Given the description of an element on the screen output the (x, y) to click on. 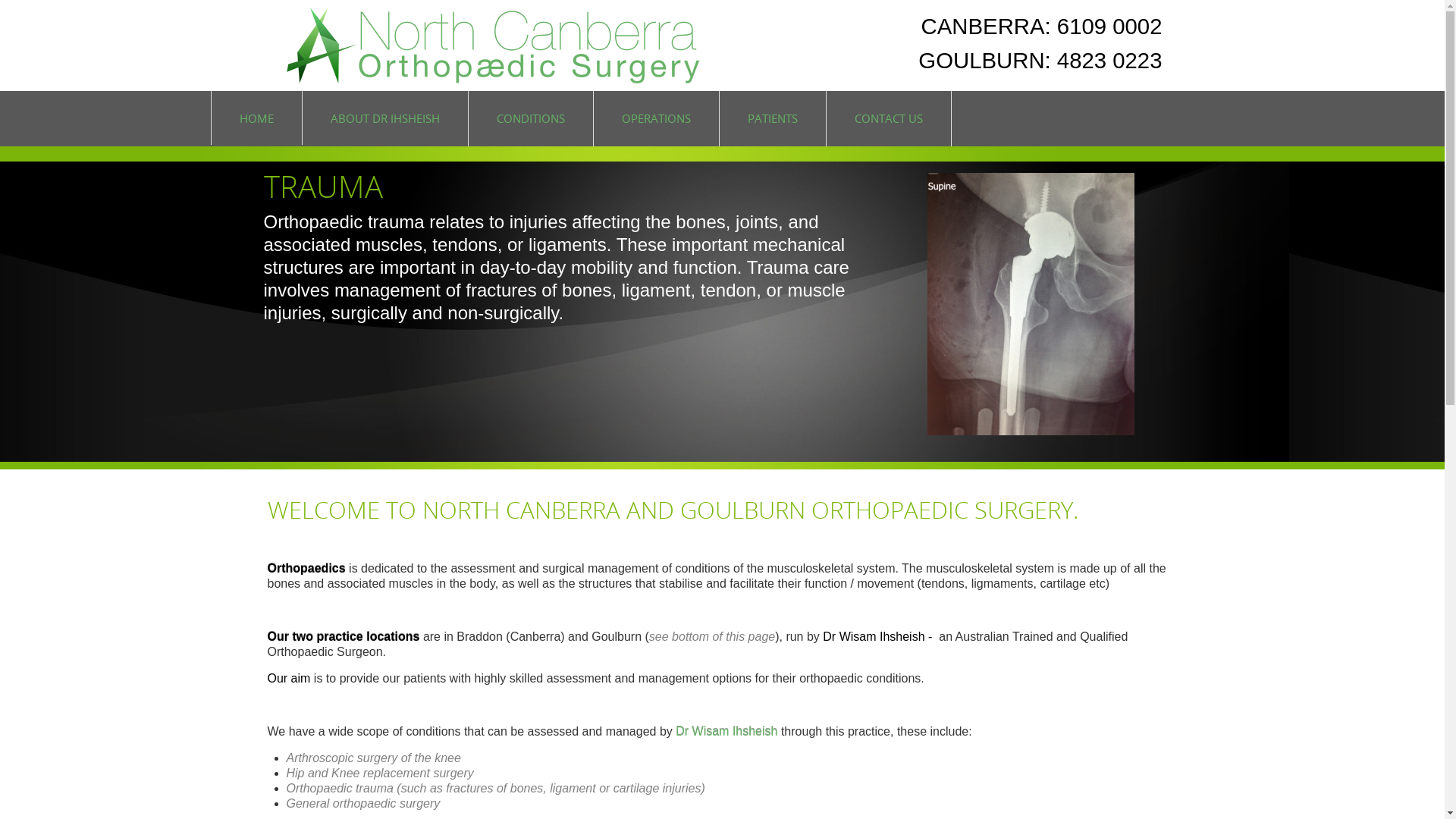
North Canberra Orthopaedic Surgeon Element type: hover (488, 78)
CONTACT US Element type: text (887, 118)
CONDITIONS Element type: text (530, 118)
ABOUT DR IHSHEISH Element type: text (384, 118)
Dr Wisam Ihsheish Element type: text (726, 730)
GOULBURN: 4823 0223 Element type: text (1039, 59)
HOME Element type: text (256, 118)
OPERATIONS Element type: text (656, 118)
CANBERRA: 6109 0002 Element type: text (1041, 25)
PATIENTS Element type: text (772, 118)
